Given the description of an element on the screen output the (x, y) to click on. 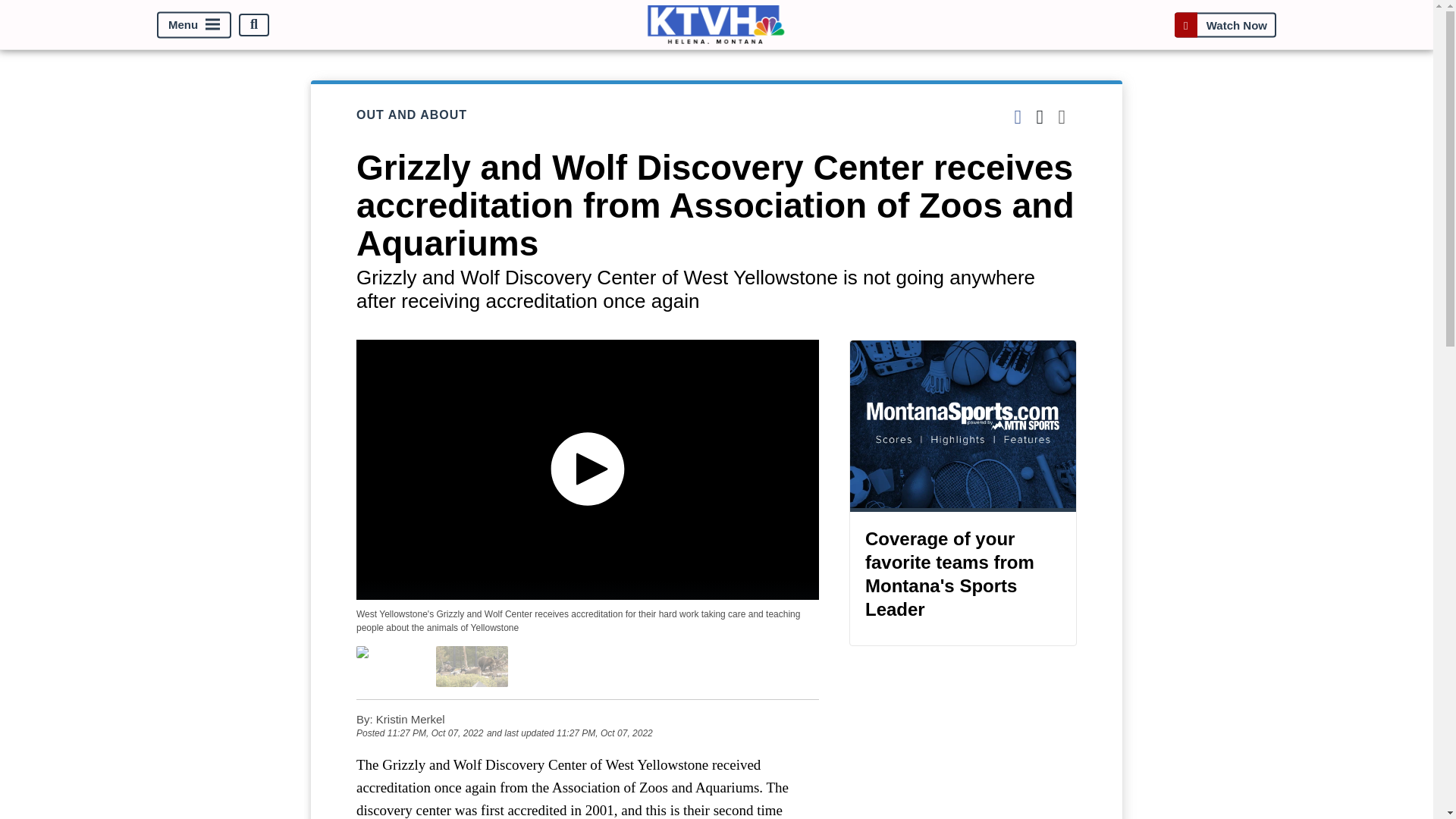
Menu (194, 24)
Watch Now (1224, 24)
